Given the description of an element on the screen output the (x, y) to click on. 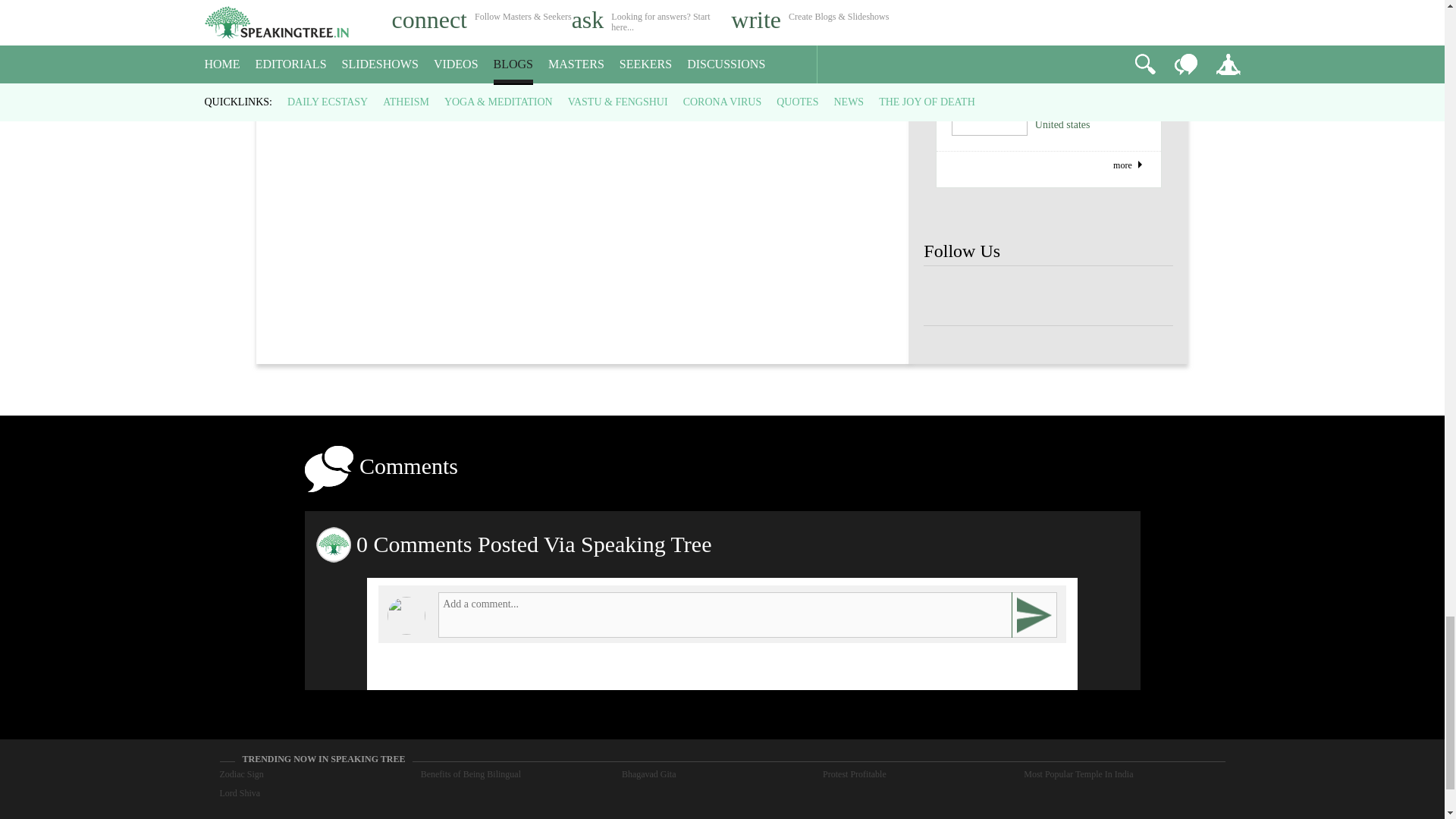
Speaking Tree FaceBook (948, 296)
Speaking Tree FaceBook (1147, 296)
Speaking Tree FaceBook (1048, 296)
Speaking Tree FaceBook (1099, 296)
Speaking Tree FaceBook (998, 296)
